Given the description of an element on the screen output the (x, y) to click on. 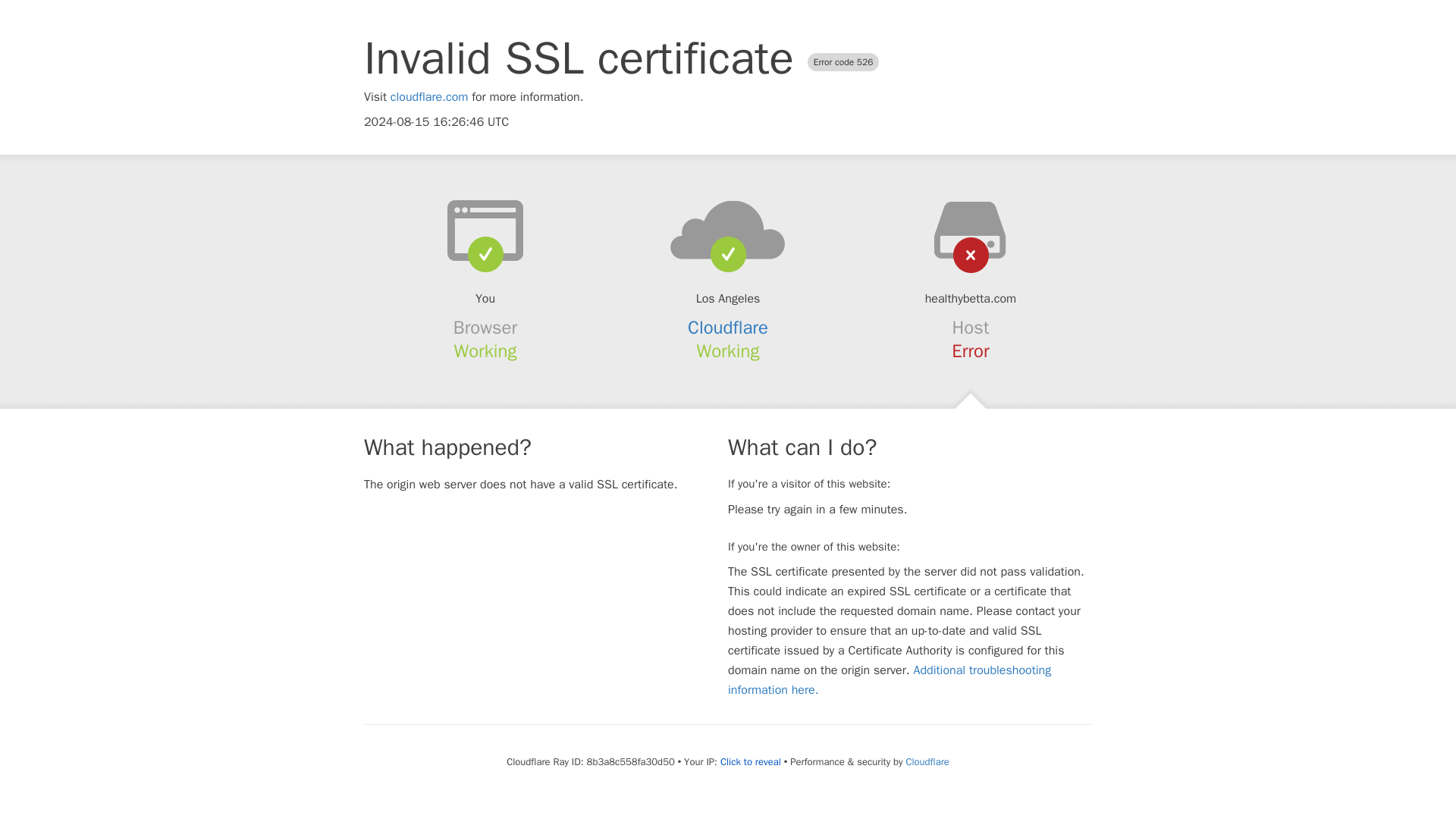
Cloudflare (727, 327)
cloudflare.com (429, 96)
Cloudflare (927, 761)
Click to reveal (750, 762)
Additional troubleshooting information here. (889, 679)
